Given the description of an element on the screen output the (x, y) to click on. 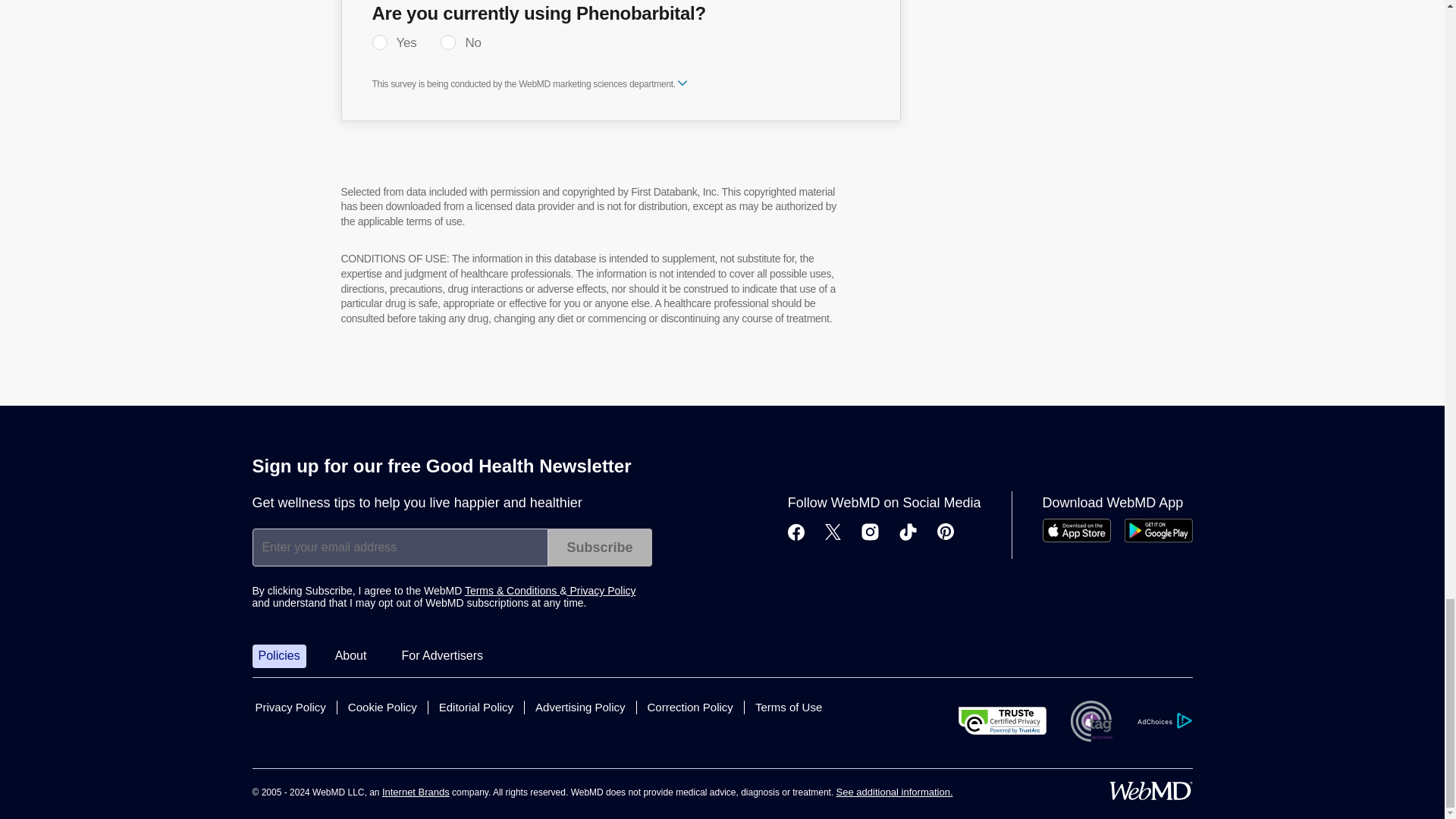
WebMD: Better information. Better health. (1150, 790)
TAG Registered Seal (1091, 721)
TRUSTe Privacy Certification (1002, 720)
Adchoices (1163, 720)
